Given the description of an element on the screen output the (x, y) to click on. 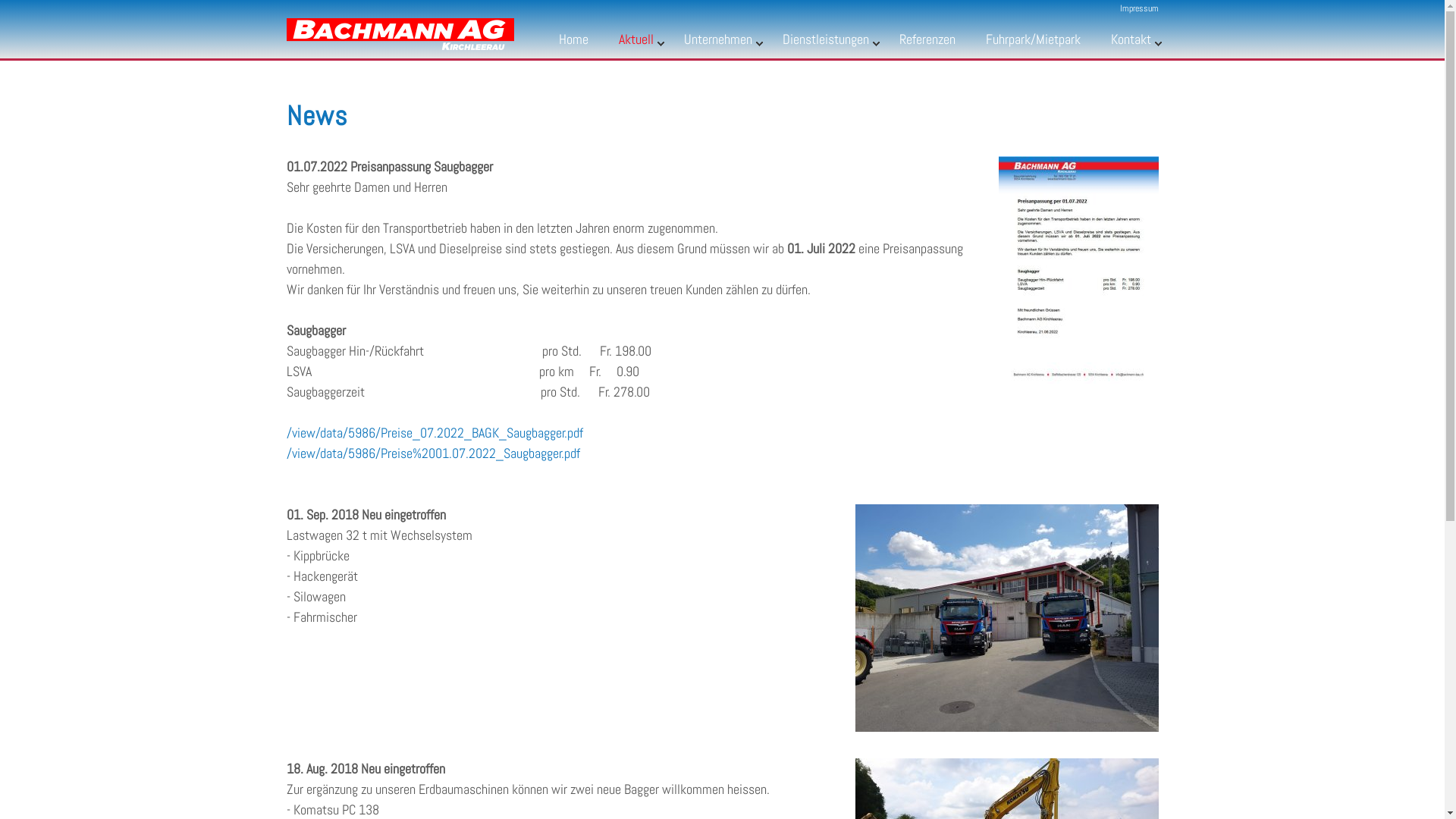
01.07.2022 Preisanpassung Saugbagger Element type: hover (1077, 269)
Dienstleistungen Element type: text (825, 42)
Kontakt Element type: text (1130, 42)
Impressum Element type: text (1138, 8)
01. Sep. 2018 Neu eingetroffen Element type: hover (1006, 617)
Bachmann AG Kirchleerau Element type: hover (400, 30)
Unternehmen Element type: text (717, 42)
Fuhrpark/Mietpark Element type: text (1032, 42)
Referenzen Element type: text (927, 42)
/view/data/5986/Preise_07.2022_BAGK_Saugbagger.pdf Element type: text (434, 432)
Home Element type: text (572, 42)
Aktuell Element type: text (635, 42)
/view/data/5986/Preise%2001.07.2022_Saugbagger.pdf Element type: text (433, 452)
